Given the description of an element on the screen output the (x, y) to click on. 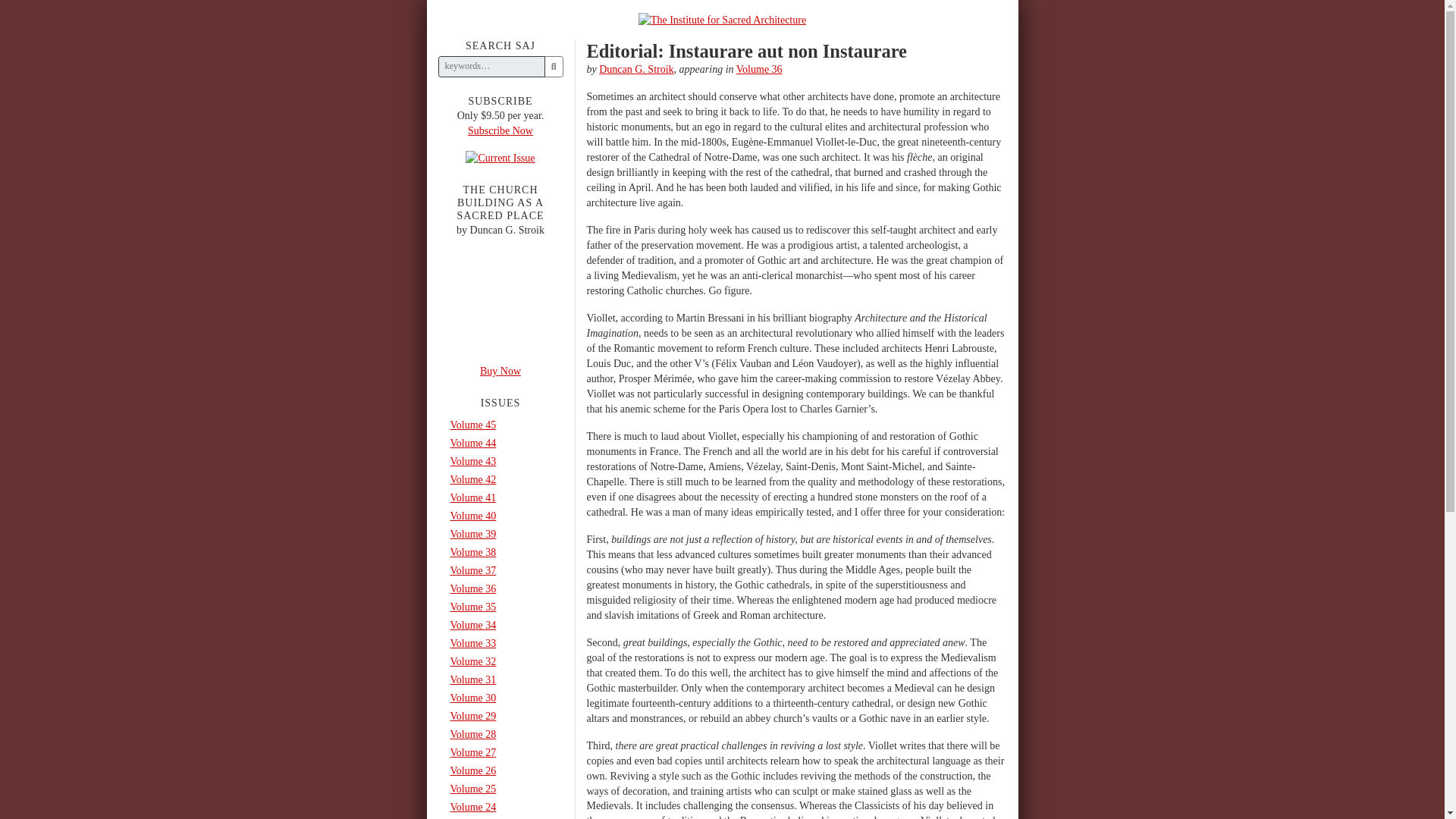
Volume 23 (500, 817)
Volume 35 (500, 607)
Volume 36 (759, 69)
Volume 36 (759, 69)
Subscribe Now (499, 157)
Volume 37 (500, 570)
Volume 30 (500, 698)
Volume 34 (500, 625)
Volume 39 (500, 534)
Subscribe Now (499, 130)
